Given the description of an element on the screen output the (x, y) to click on. 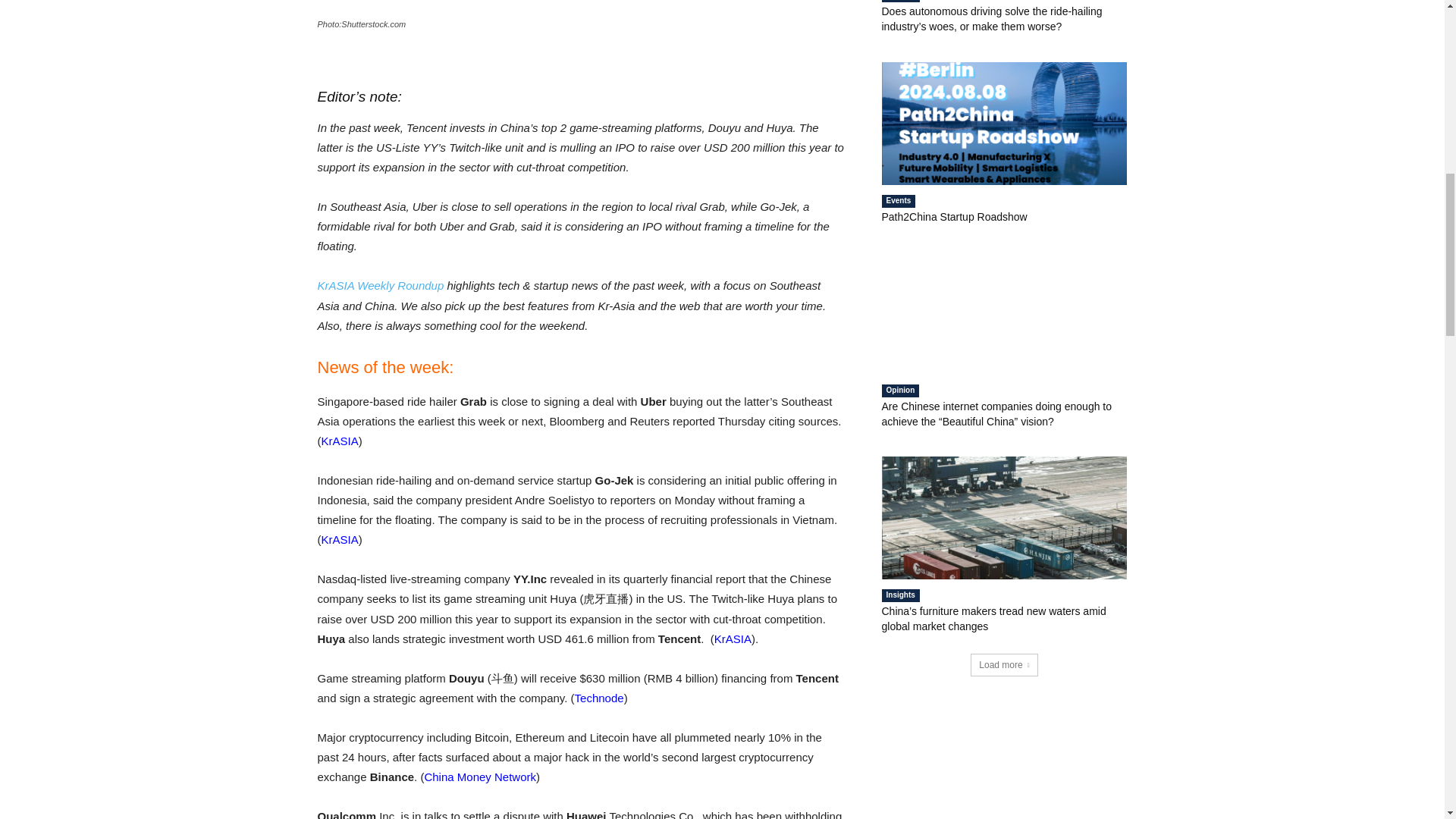
Technode (599, 697)
KrASIA (339, 440)
KrASIA (732, 638)
KrASIA Weekly Roundup (380, 285)
KrASIA (339, 539)
China Money Network (479, 776)
Tencent Icon-Middle 4 (580, 6)
